Given the description of an element on the screen output the (x, y) to click on. 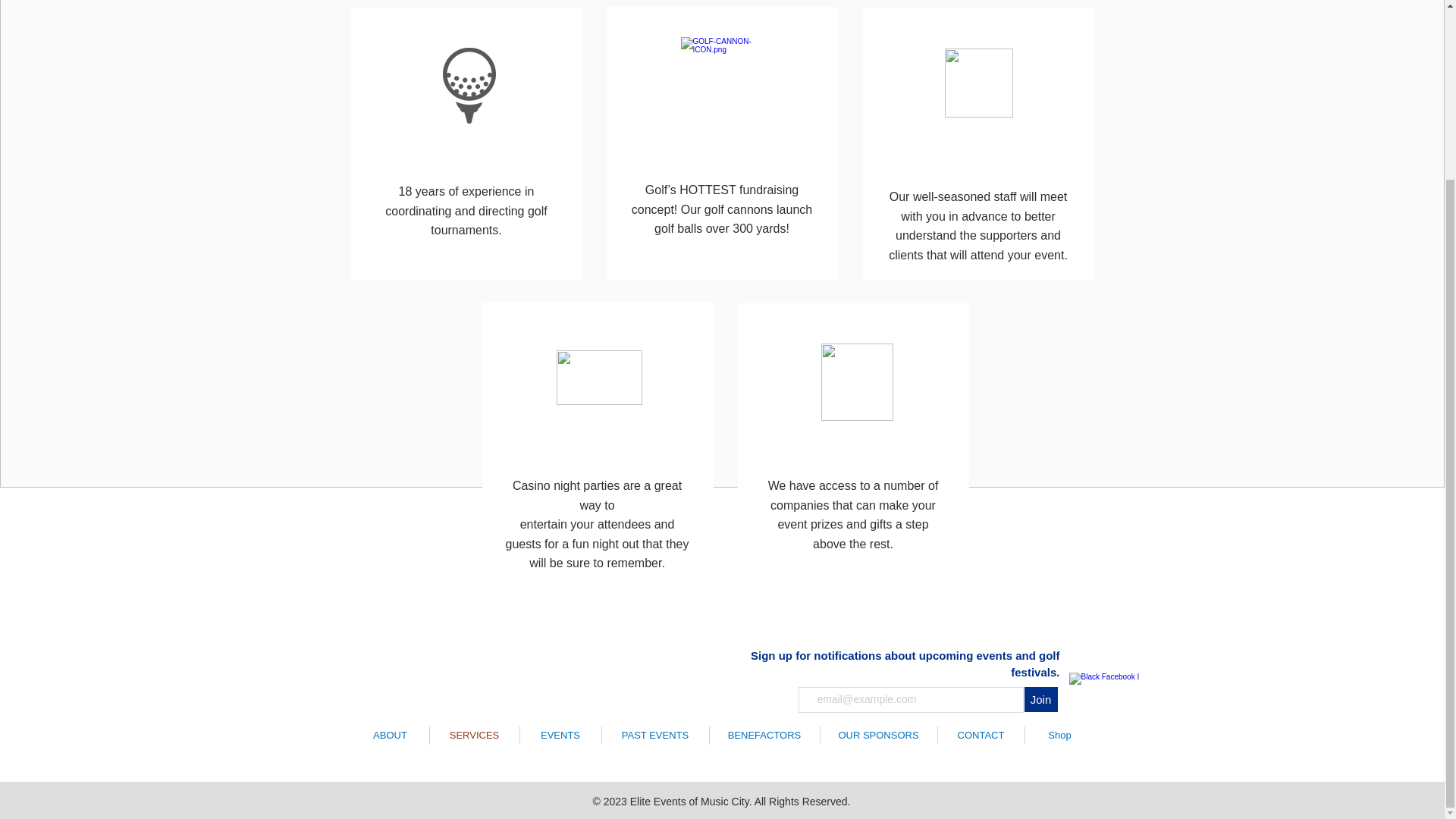
SILENT-AUCTION-ICON.png (978, 82)
Join (1040, 699)
EVENT-SIGNAGE-ICON.png (856, 381)
ABOUT (390, 735)
CASINO-PARTY-ICON.png (599, 377)
SERVICES (473, 735)
SPECIAL-EVENTS-ICON.png (725, 81)
